Given the description of an element on the screen output the (x, y) to click on. 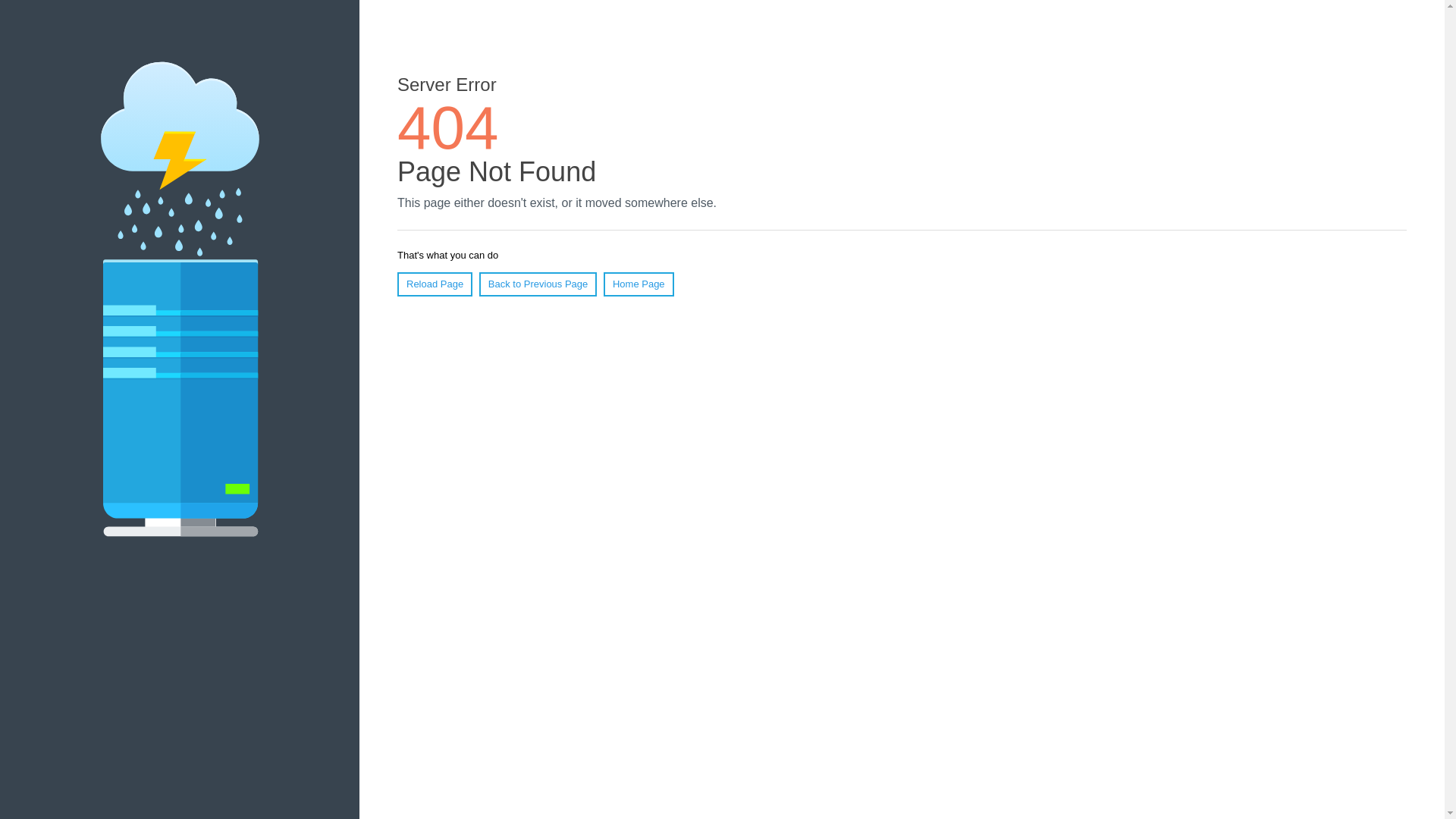
Reload Page Element type: text (434, 284)
Home Page Element type: text (638, 284)
Back to Previous Page Element type: text (538, 284)
